Given the description of an element on the screen output the (x, y) to click on. 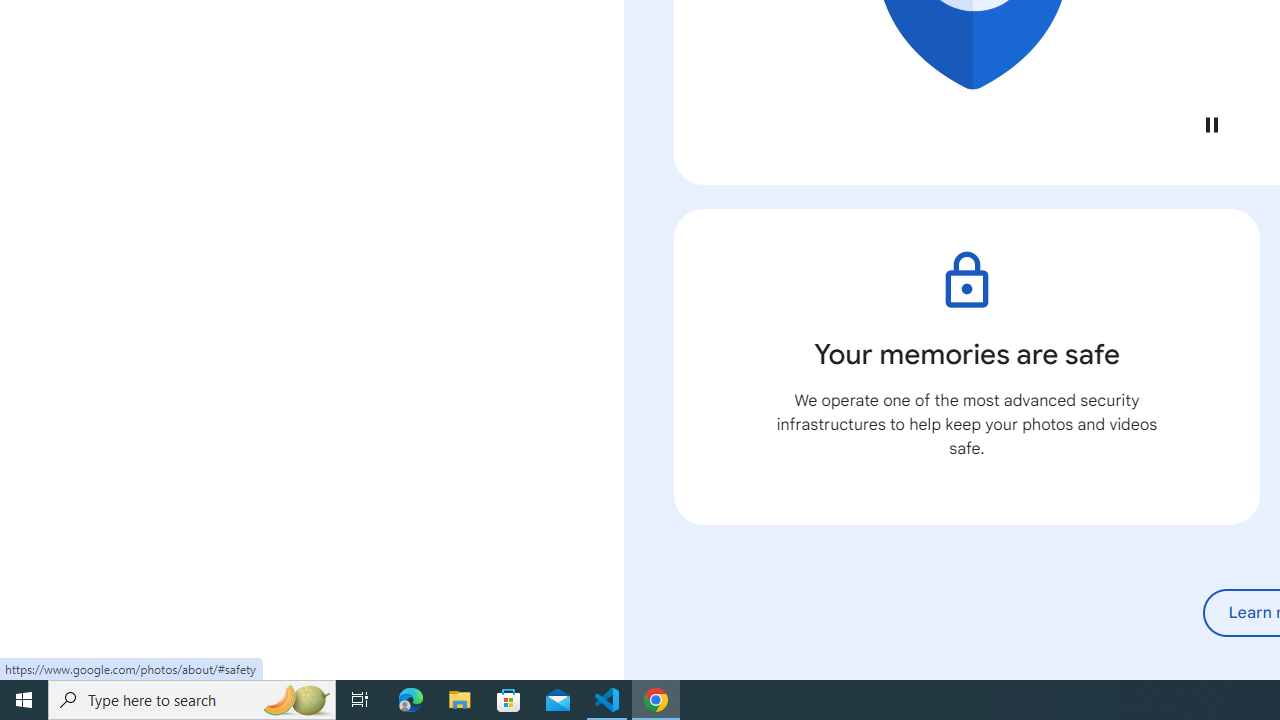
Padlock icon indicating security.  (966, 280)
Play video (1211, 124)
